Given the description of an element on the screen output the (x, y) to click on. 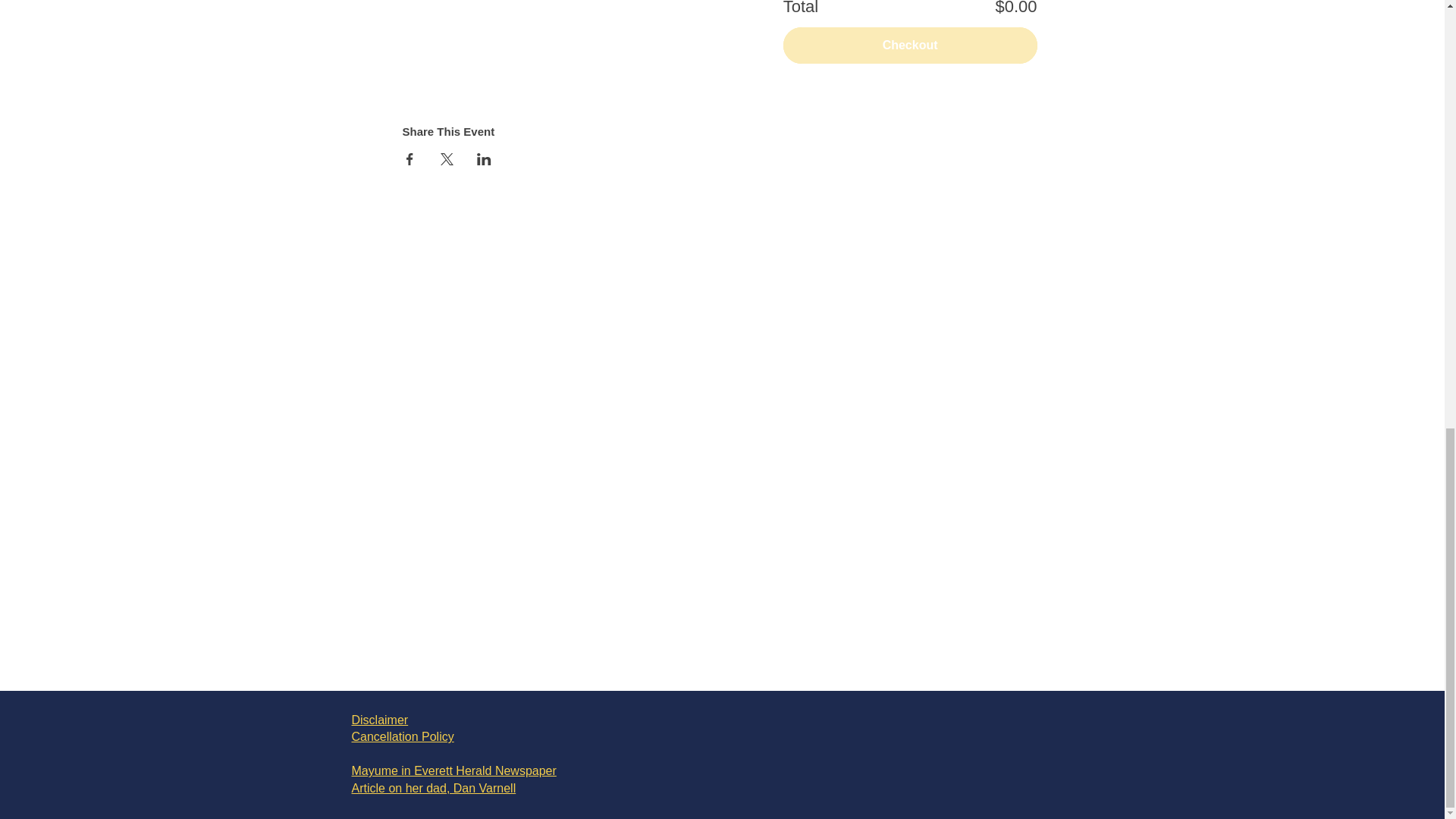
Cancellation Policy (403, 736)
Checkout (909, 45)
Disclaimer (380, 719)
